Given the description of an element on the screen output the (x, y) to click on. 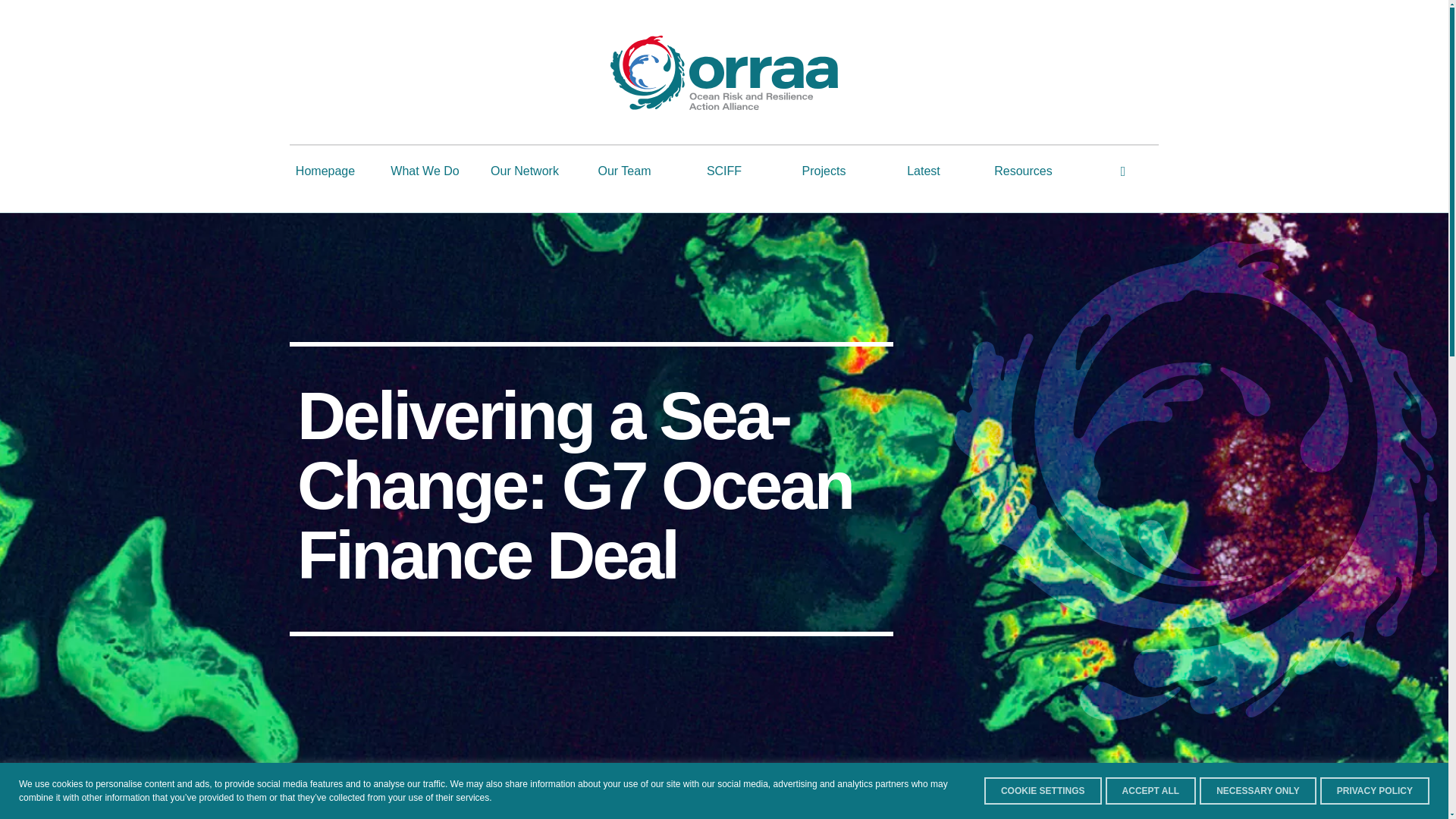
Our Network (524, 166)
Homepage (325, 166)
Resources (1022, 166)
Our Team (623, 166)
What We Do (424, 166)
Latest (923, 166)
Projects (823, 166)
SCIFF (724, 166)
